Given the description of an element on the screen output the (x, y) to click on. 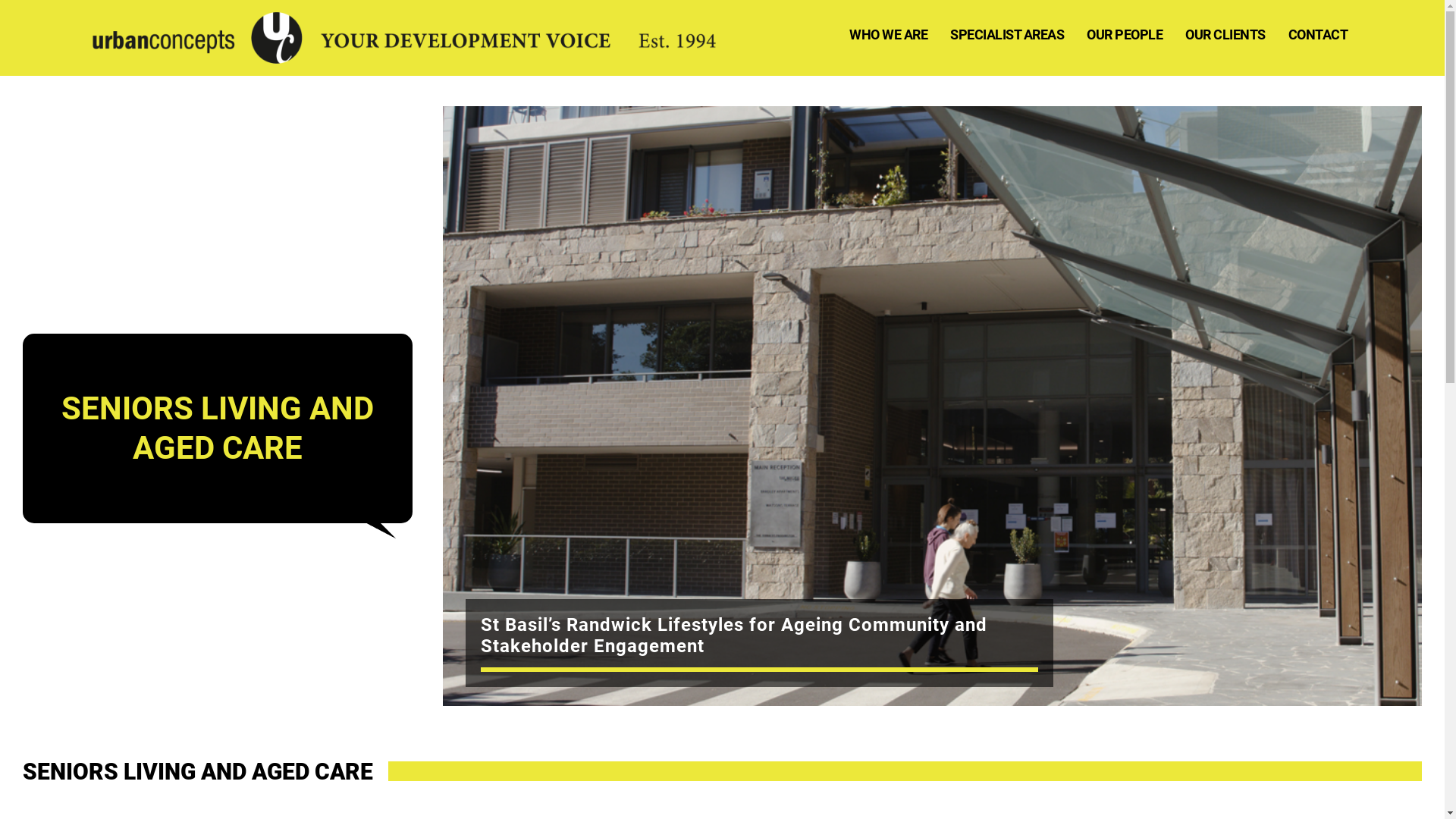
SPECIALIST AREAS Element type: text (1006, 34)
OUR CLIENTS Element type: text (1225, 34)
WHO WE ARE Element type: text (887, 34)
CONTACT Element type: text (1318, 34)
OUR PEOPLE Element type: text (1124, 34)
